Given the description of an element on the screen output the (x, y) to click on. 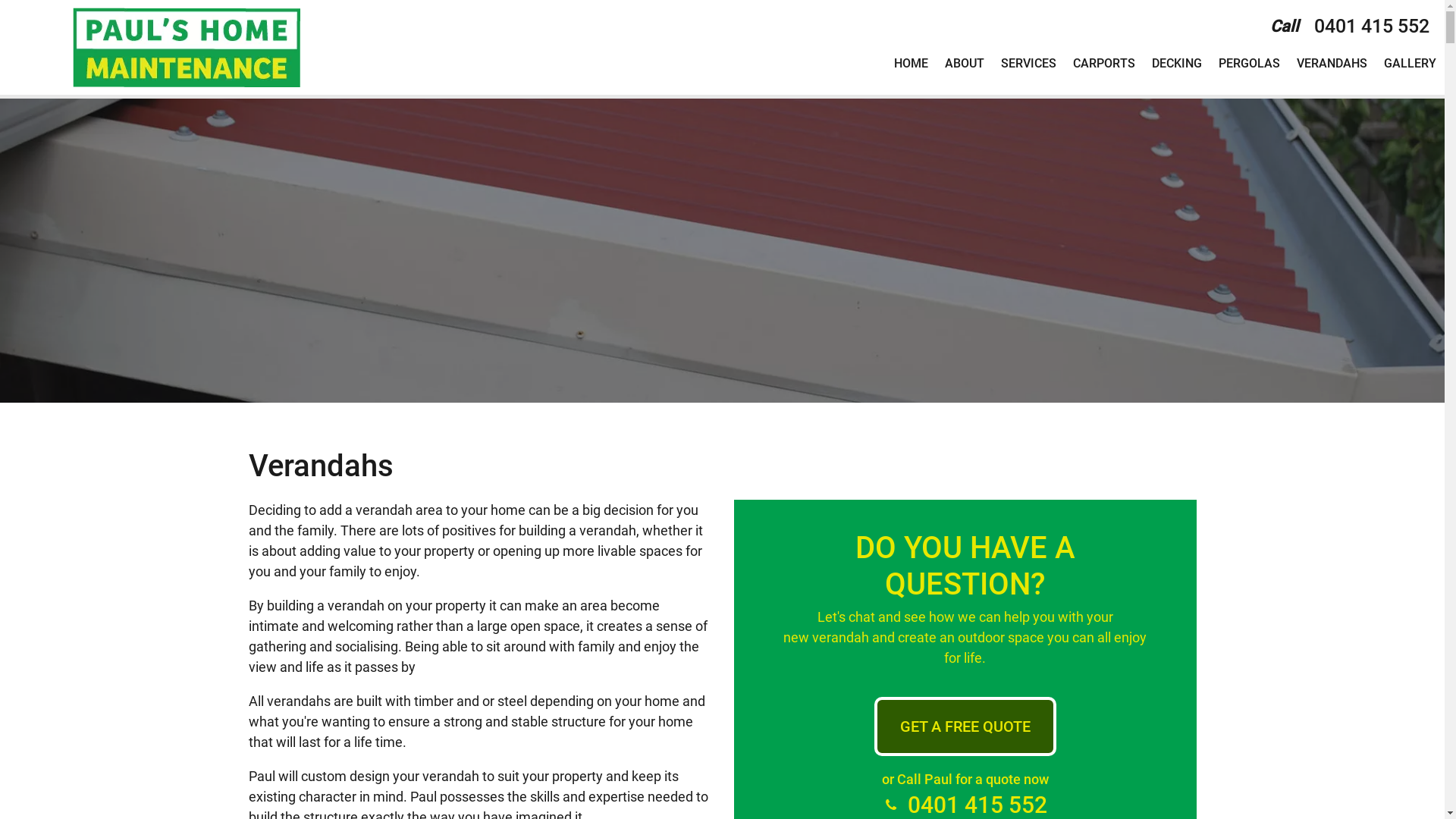
GET A FREE QUOTE Element type: text (964, 726)
0401 415 552 Element type: text (1371, 26)
HOME Element type: text (910, 63)
0401 415 552 Element type: text (977, 804)
DECKING Element type: text (1176, 63)
VERANDAHS Element type: text (1331, 63)
GALLERY Element type: text (1409, 63)
SERVICES Element type: text (1028, 63)
ABOUT Element type: text (964, 63)
CARPORTS Element type: text (1103, 63)
PERGOLAS Element type: text (1249, 63)
